Given the description of an element on the screen output the (x, y) to click on. 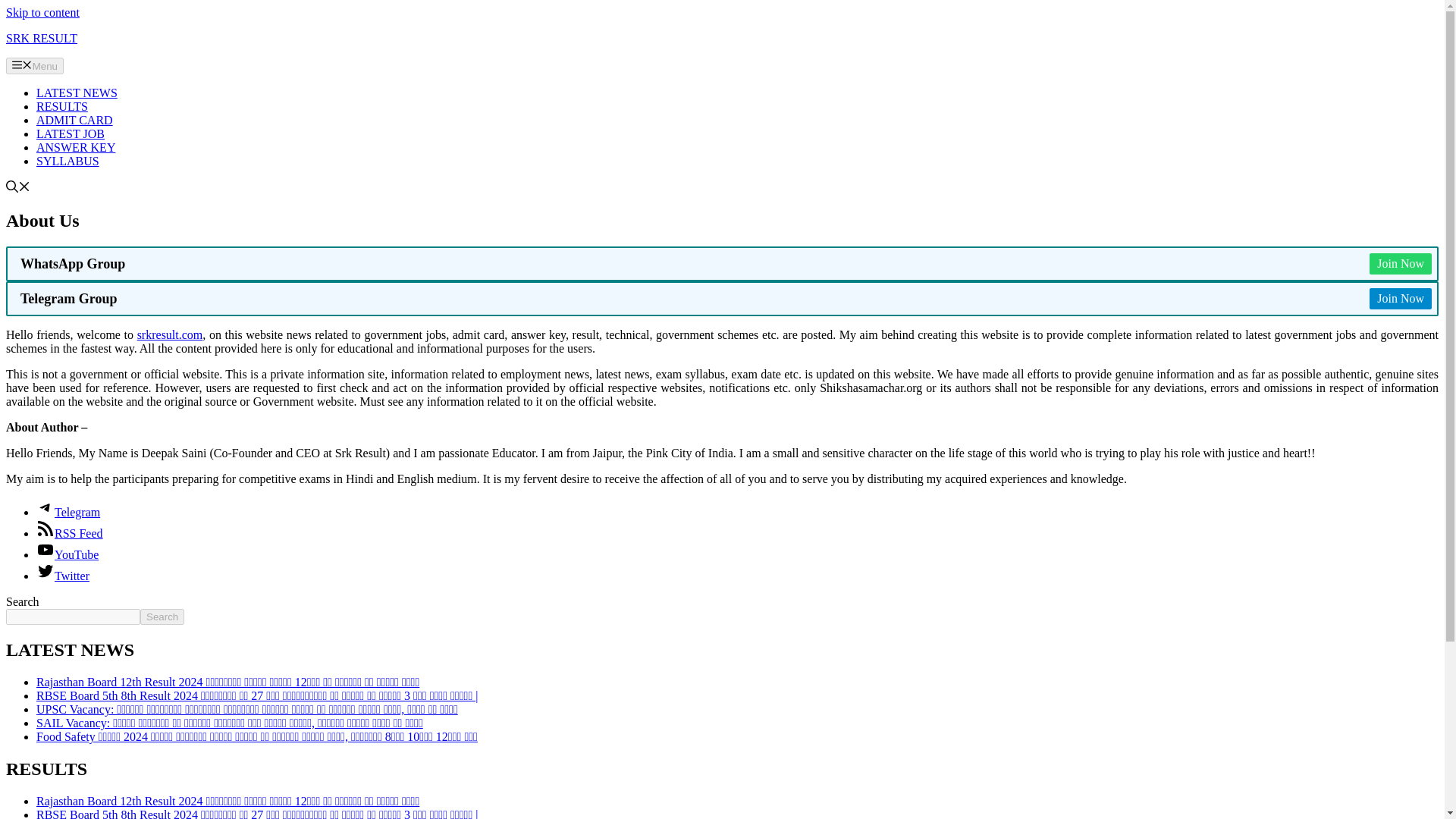
Menu (34, 65)
RSS Feed (69, 533)
ADMIT CARD (74, 119)
srkresult.com (169, 334)
Join Now (1400, 298)
Telegram (68, 512)
ANSWER KEY (75, 146)
SRK RESULT (41, 38)
SYLLABUS (67, 160)
Twitter (62, 575)
Skip to content (42, 11)
LATEST JOB (70, 133)
LATEST NEWS (76, 92)
Skip to content (42, 11)
Search (161, 616)
